Given the description of an element on the screen output the (x, y) to click on. 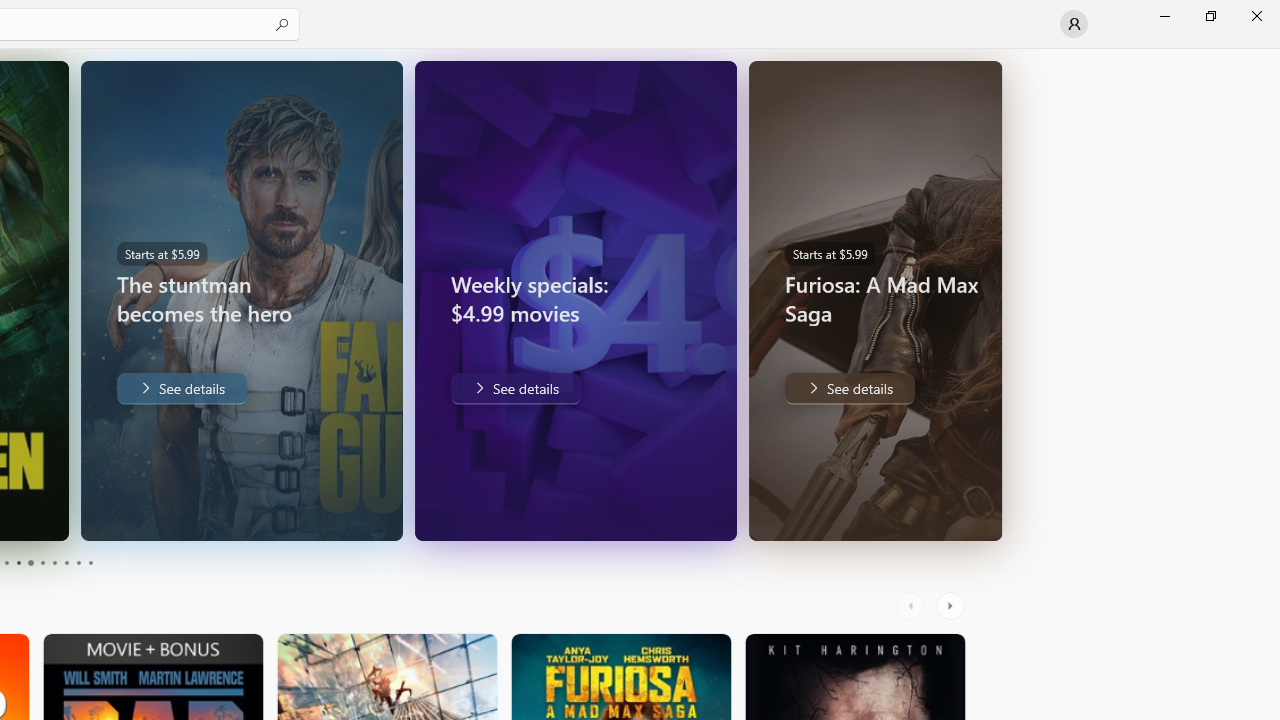
Minimize Microsoft Store (1164, 15)
Page 9 (77, 562)
User profile (1073, 24)
